Given the description of an element on the screen output the (x, y) to click on. 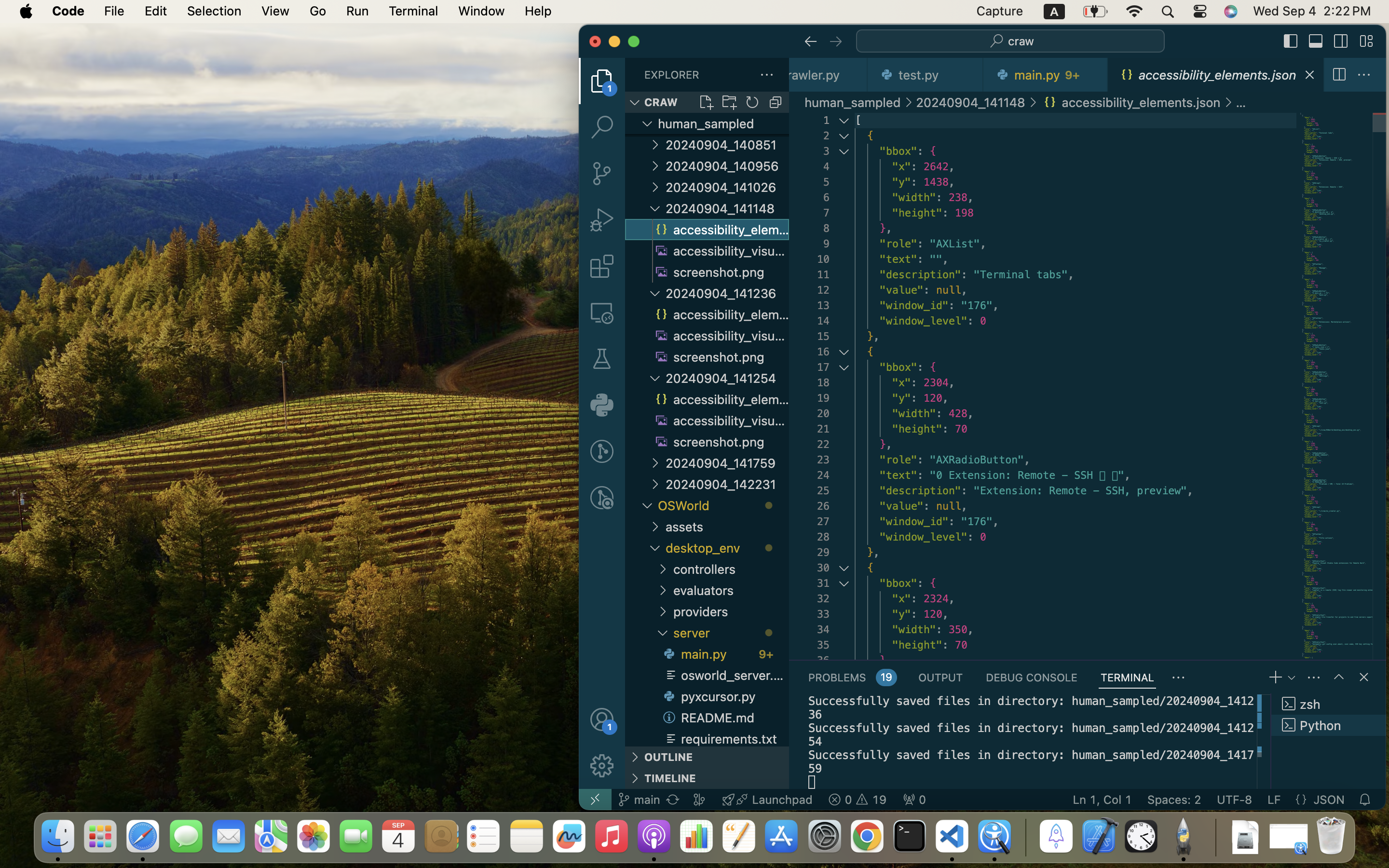
0  Element type: AXRadioButton (601, 127)
osworld_server.service  Element type: AXGroup (724, 674)
1 TERMINAL Element type: AXRadioButton (1127, 676)
assets Element type: AXGroup (727, 526)
20240904_140834 human_sampled   Element type: AXGroup (707, 123)
